Given the description of an element on the screen output the (x, y) to click on. 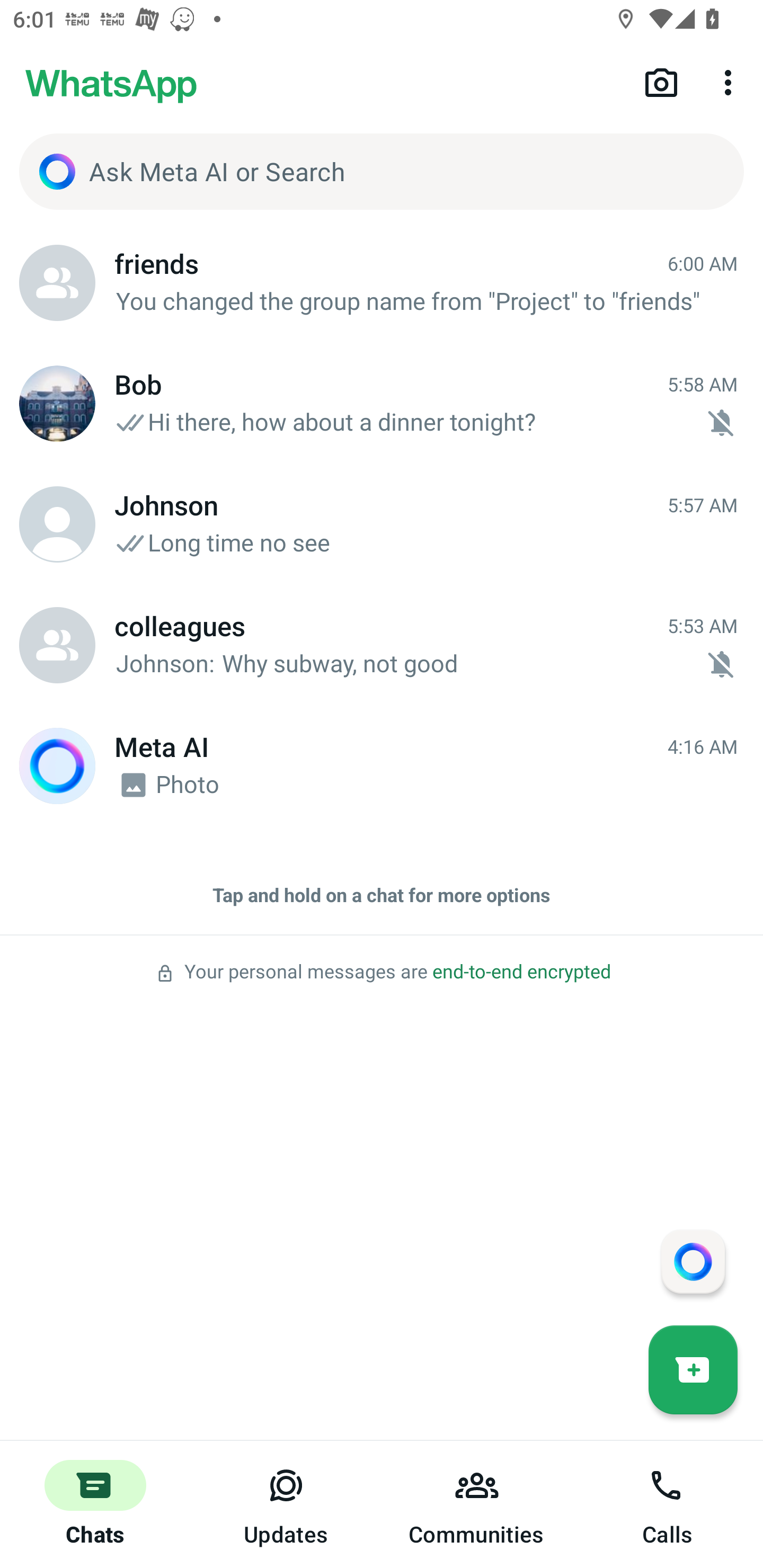
Camera (661, 81)
More options (731, 81)
friends (57, 282)
Bob (57, 403)
Johnson Johnson 5:57 AM 5:57 AM Long time no see (381, 524)
Johnson (57, 524)
colleagues (57, 644)
Meta AI Meta AI 4:16 AM 4:16 AM Photo (381, 765)
Meta AI (57, 765)
end-to-end encrypted (521, 972)
Message your assistant (692, 1261)
New chat (692, 1369)
Updates (285, 1504)
Communities (476, 1504)
Calls (667, 1504)
